Given the description of an element on the screen output the (x, y) to click on. 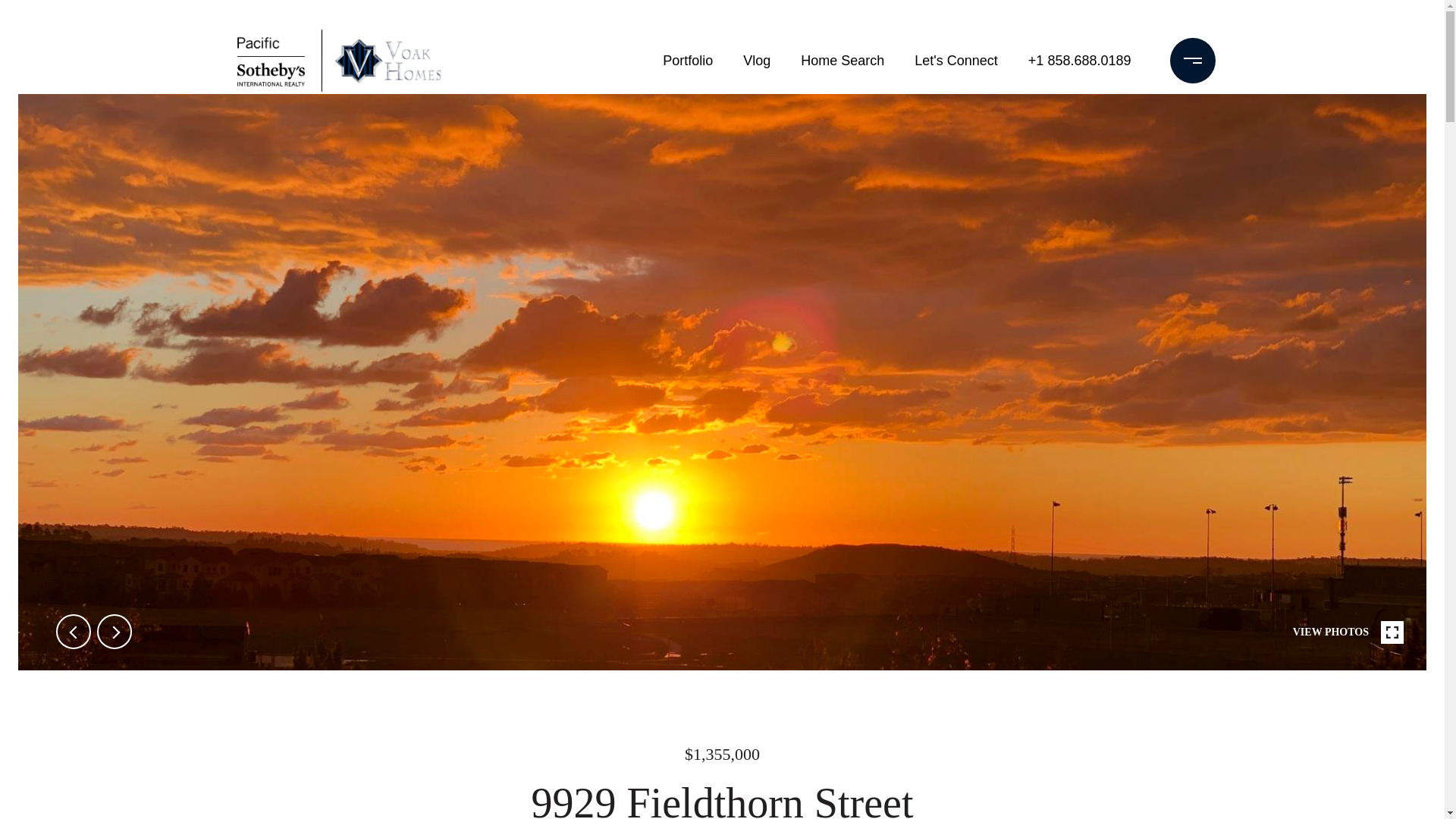
next (114, 631)
Portfolio (687, 60)
Home Search (842, 60)
Let's Connect (956, 60)
prev (73, 631)
